Given the description of an element on the screen output the (x, y) to click on. 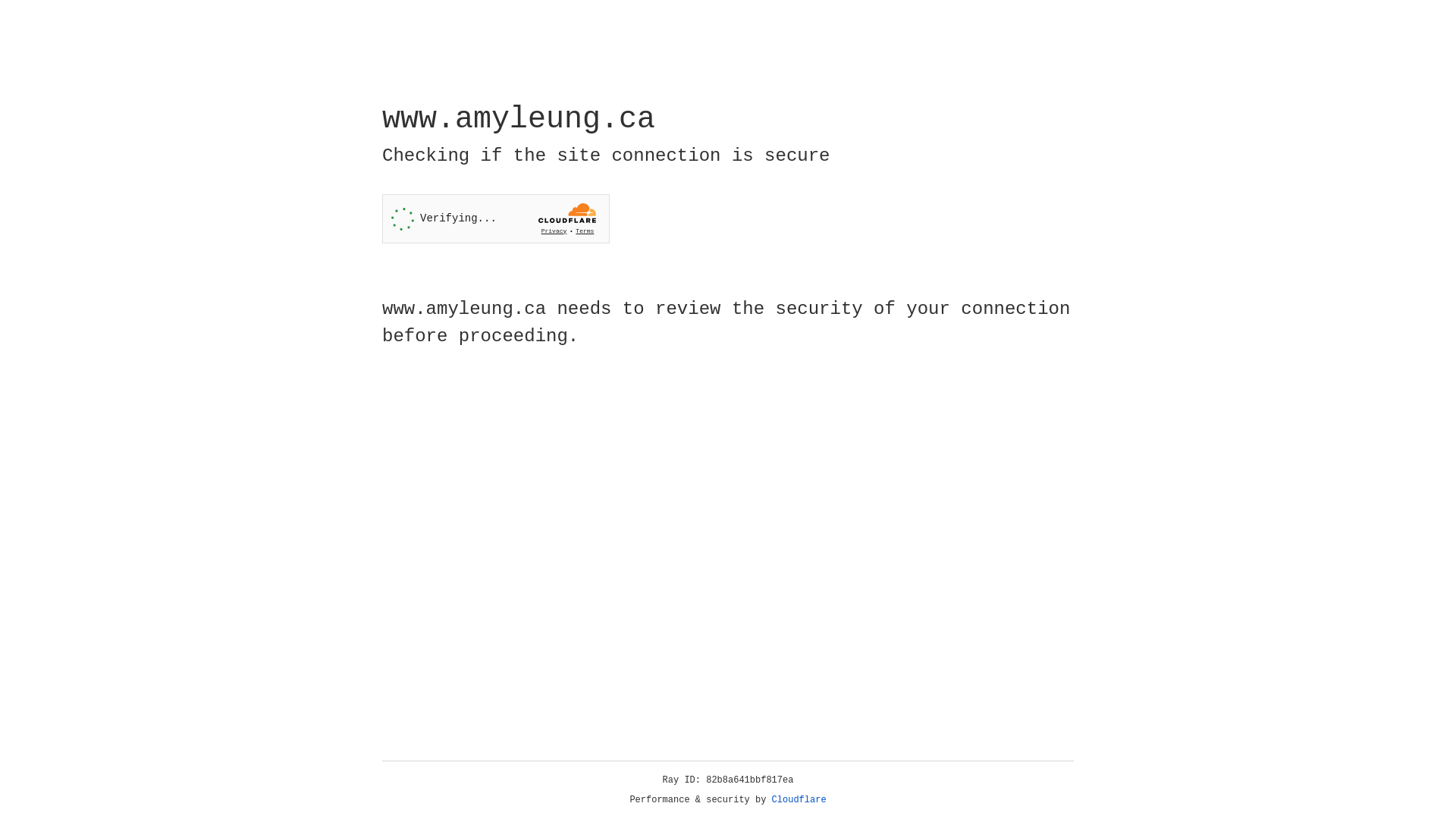
Cloudflare Element type: text (798, 799)
Widget containing a Cloudflare security challenge Element type: hover (495, 218)
